Given the description of an element on the screen output the (x, y) to click on. 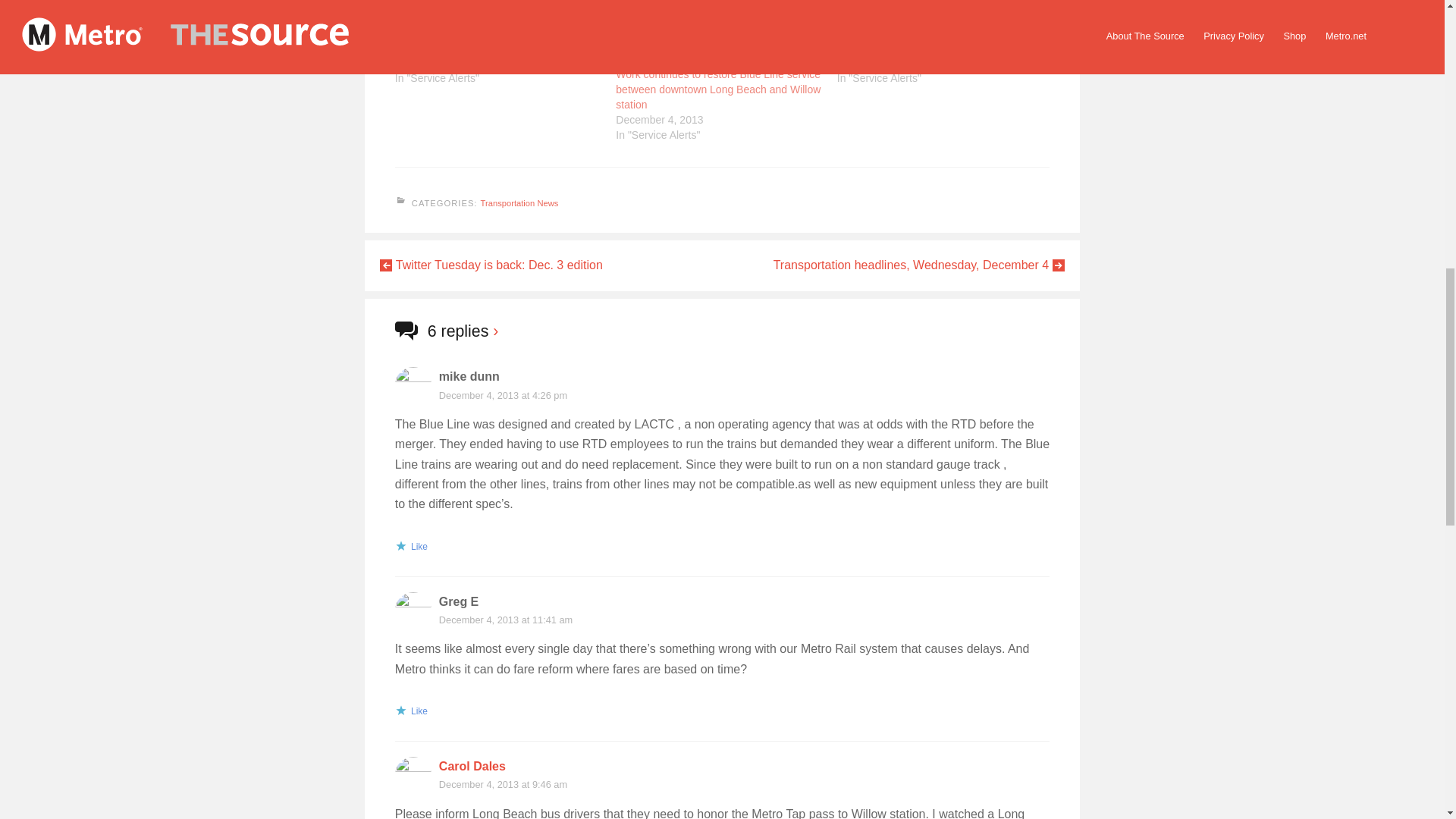
December 4, 2013 at 11:41 am (505, 619)
Twitter Tuesday is back: Dec. 3 edition (491, 264)
Transportation News (519, 203)
December 4, 2013 at 4:26 pm (503, 395)
December 4, 2013 at 9:46 am (503, 784)
Carol Dales (472, 766)
Transportation headlines, Wednesday, December 4 (918, 264)
